Given the description of an element on the screen output the (x, y) to click on. 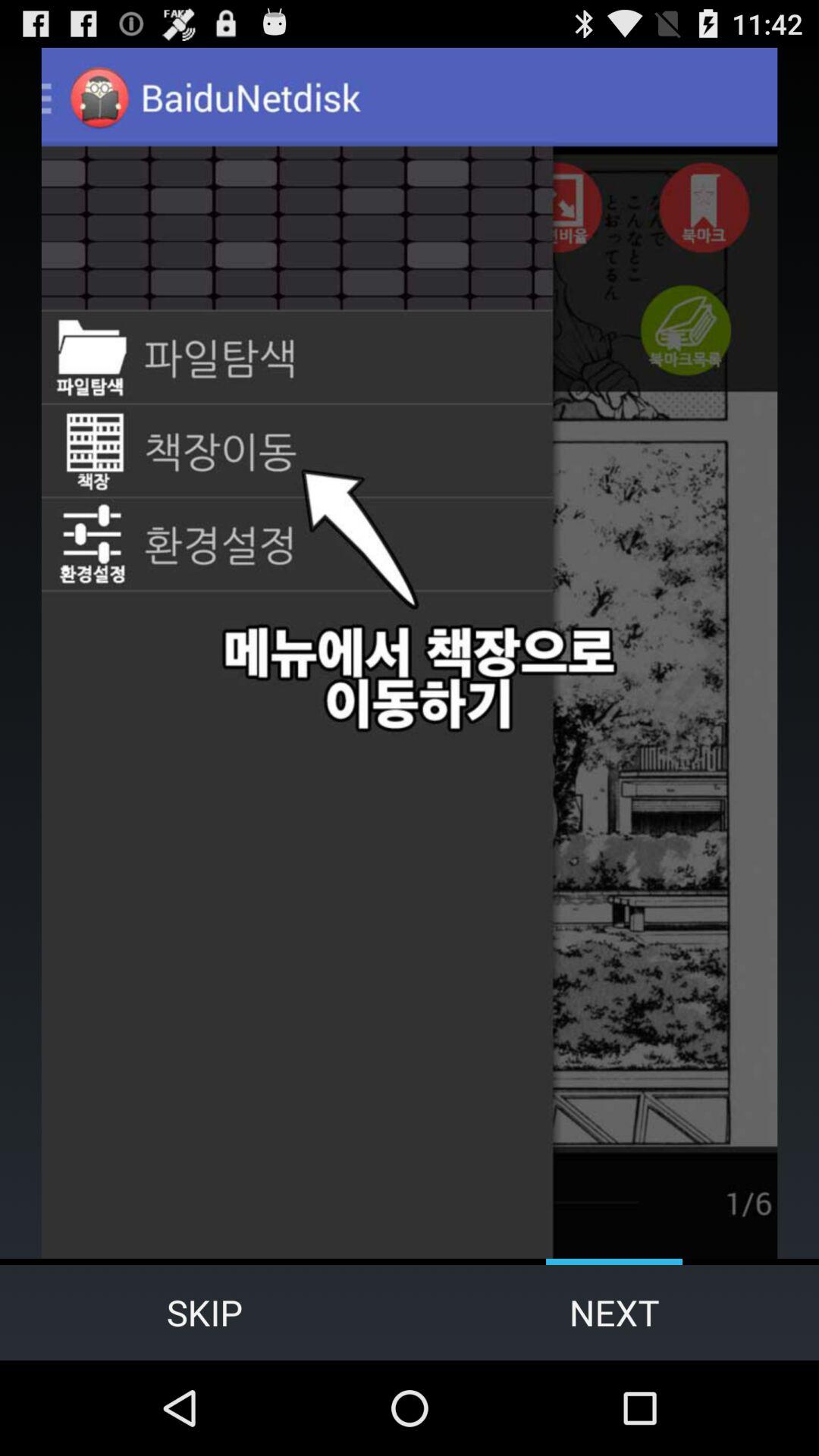
choose skip item (204, 1312)
